Given the description of an element on the screen output the (x, y) to click on. 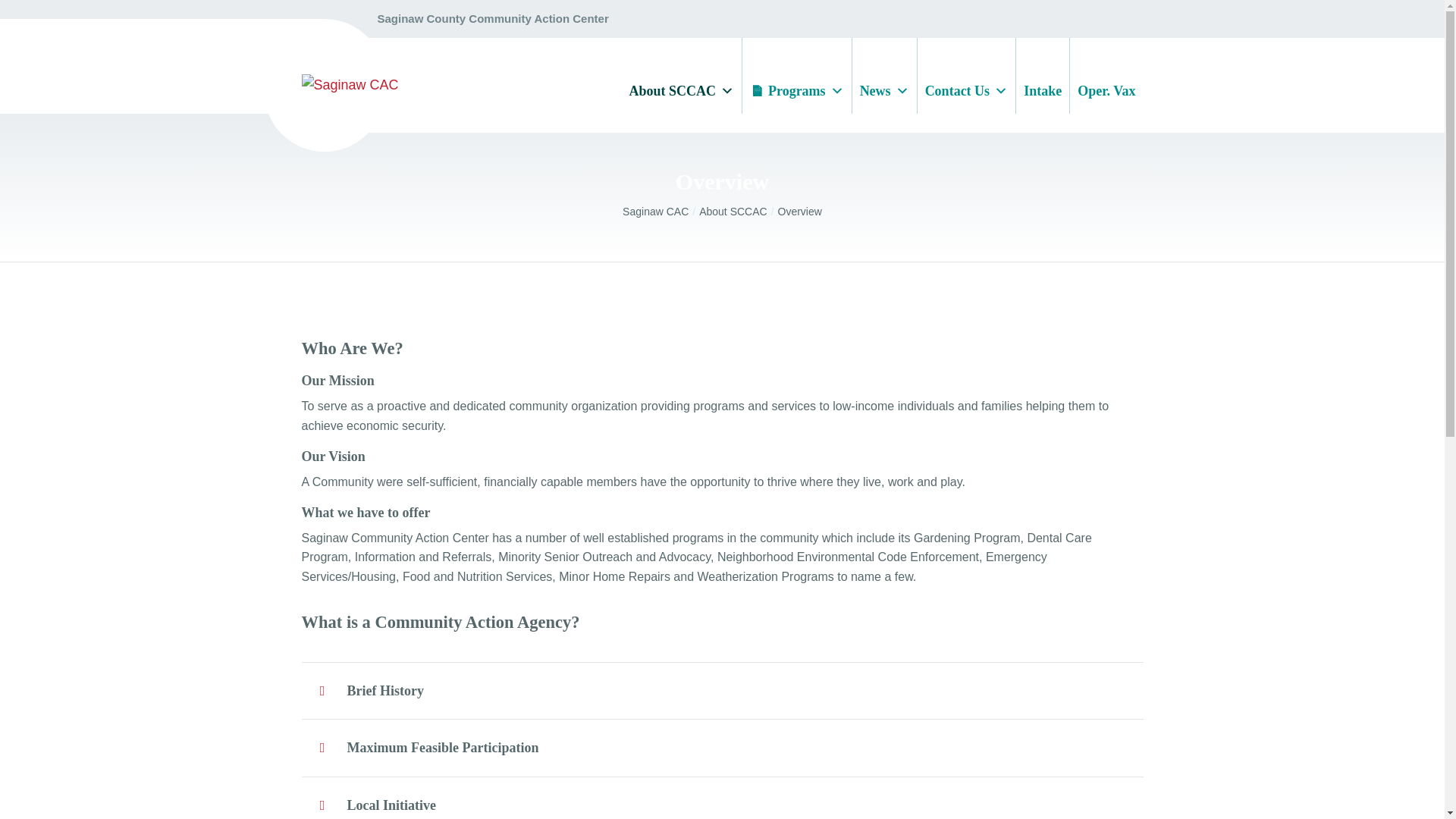
Go to Overview. (799, 211)
Local Initiative (721, 797)
About SCCAC (681, 75)
Saginaw CAC (660, 211)
Go to About SCCAC. (737, 211)
Brief History (721, 690)
Overview (799, 211)
Go to Saginaw CAC. (660, 211)
Contact Us (966, 75)
Programs (796, 75)
